Given the description of an element on the screen output the (x, y) to click on. 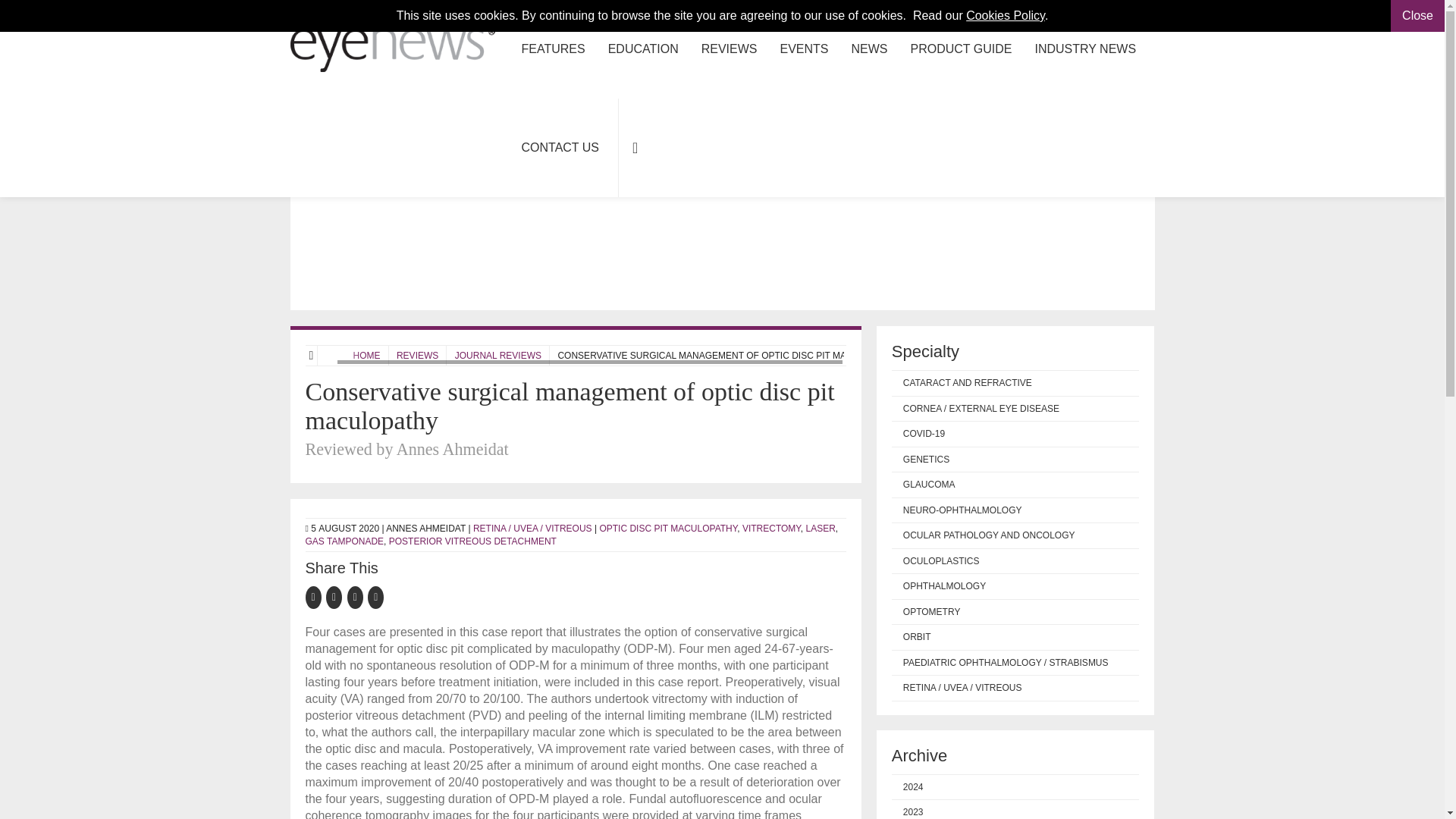
On Twitter (336, 595)
Cookies Policy (1005, 15)
On Reddit (376, 595)
EDUCATION (643, 49)
On Facebook (315, 595)
On LinkedIn (357, 595)
